Given the description of an element on the screen output the (x, y) to click on. 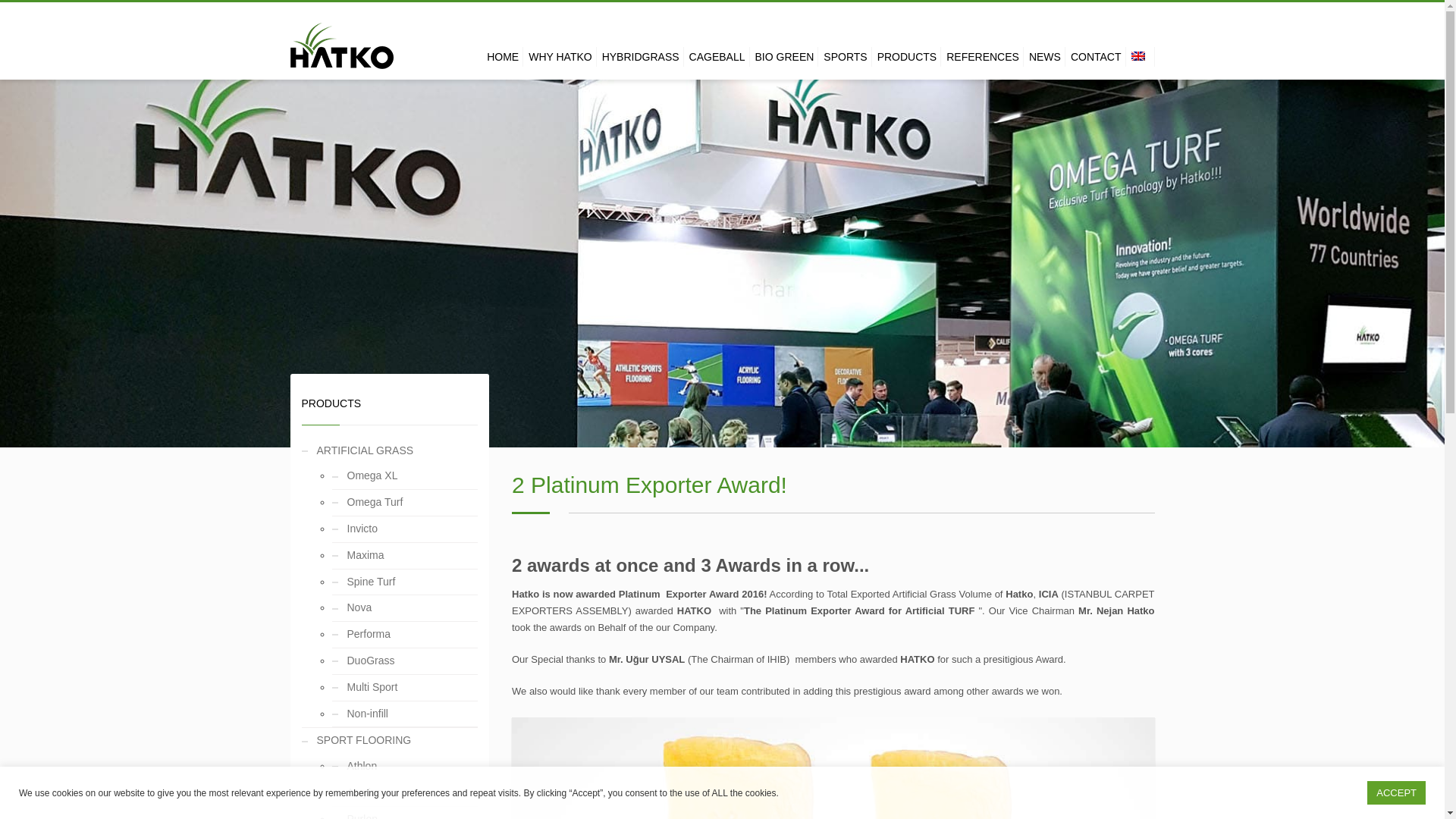
Artificial Grass (341, 49)
HOME (503, 56)
CAGEBALL (718, 56)
BIO GREEN (786, 56)
WHY HATKO (561, 56)
SPORTS (846, 56)
PRODUCTS (909, 56)
HYBRIDGRASS (641, 56)
